Given the description of an element on the screen output the (x, y) to click on. 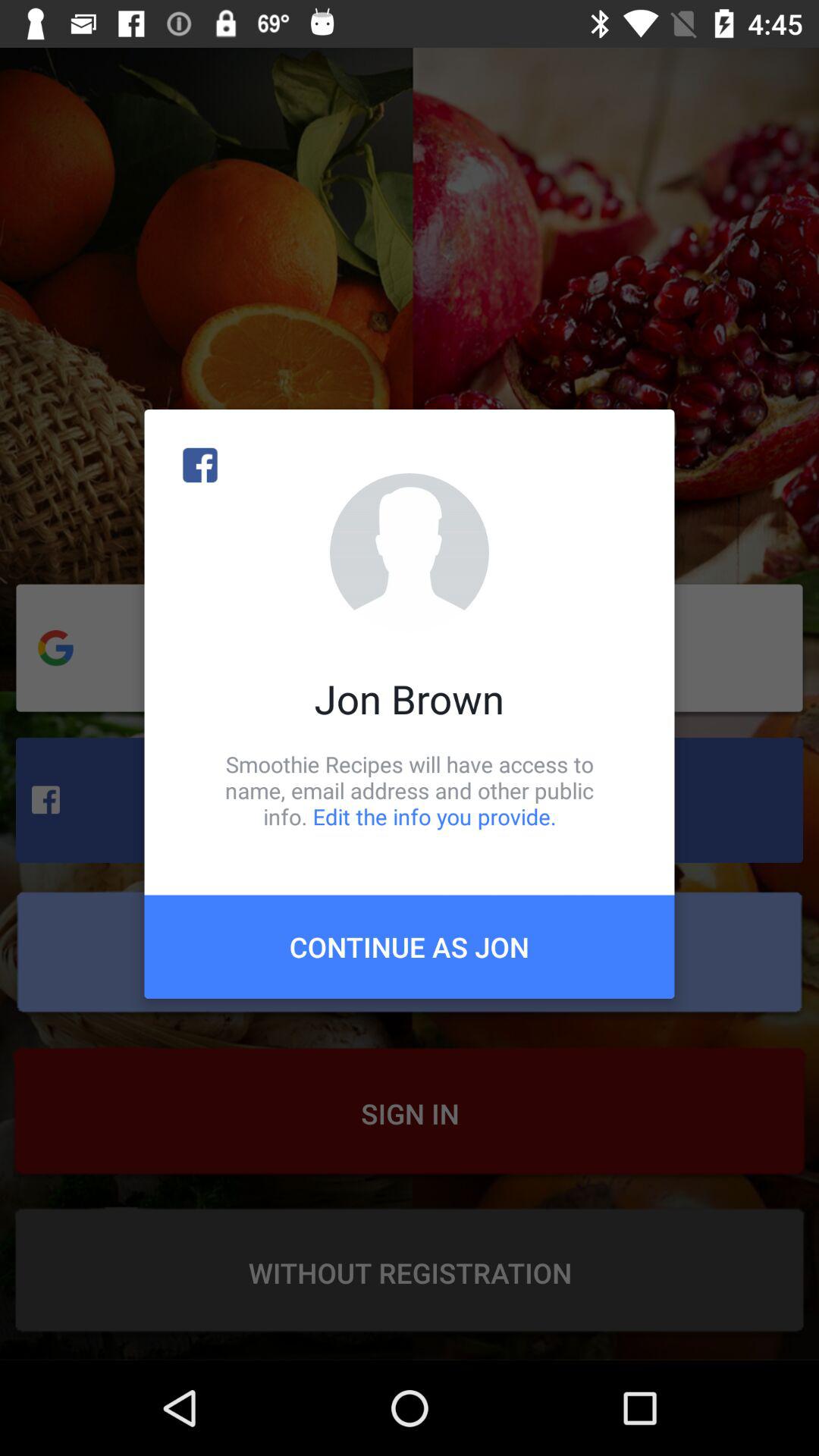
press the item below smoothie recipes will icon (409, 946)
